Given the description of an element on the screen output the (x, y) to click on. 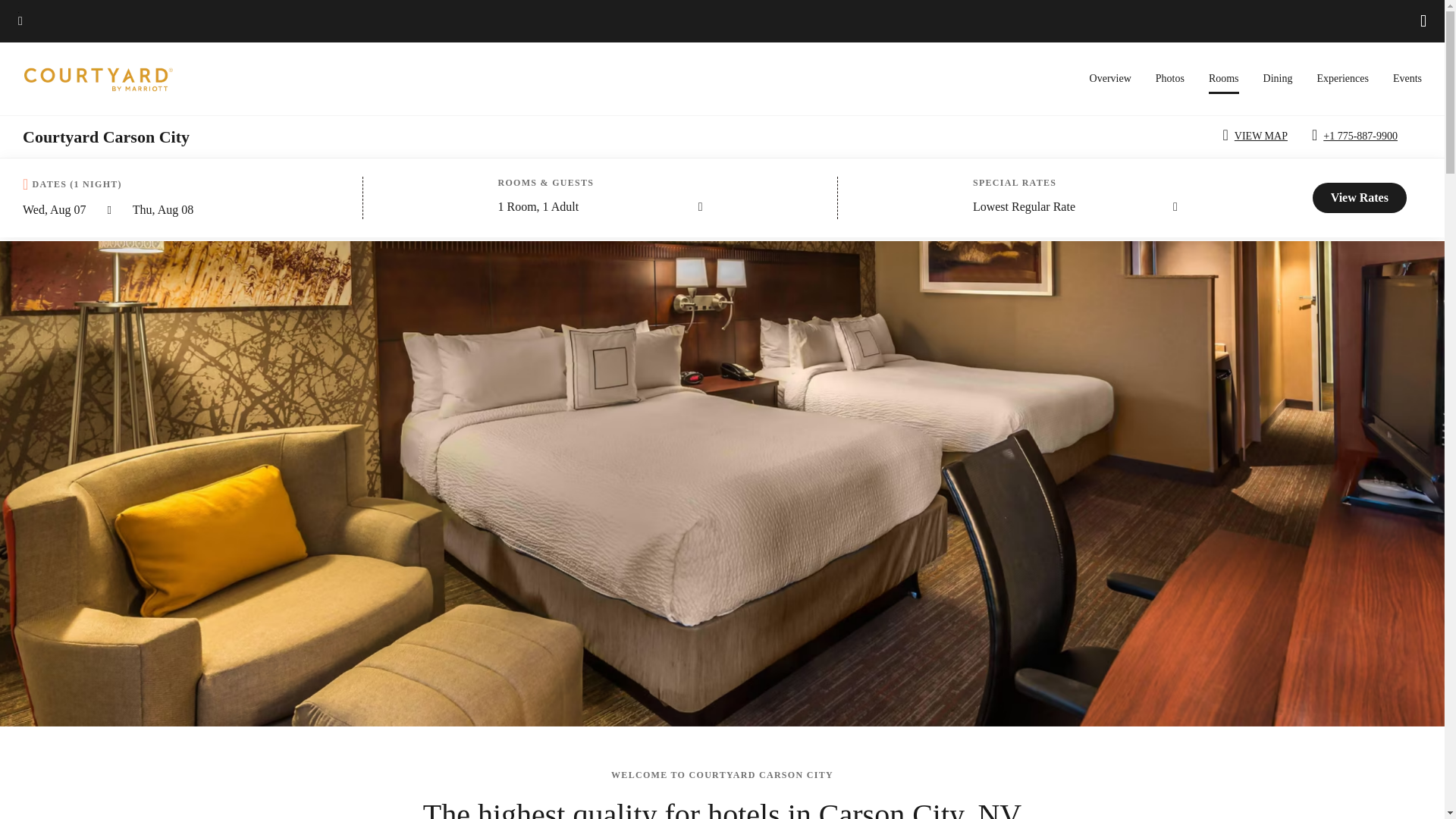
Overview (1110, 78)
VIEW MAP (1257, 136)
Rooms (1223, 83)
Photos (1170, 78)
Experiences (1342, 78)
Events (1407, 78)
Dining (1277, 78)
